Given the description of an element on the screen output the (x, y) to click on. 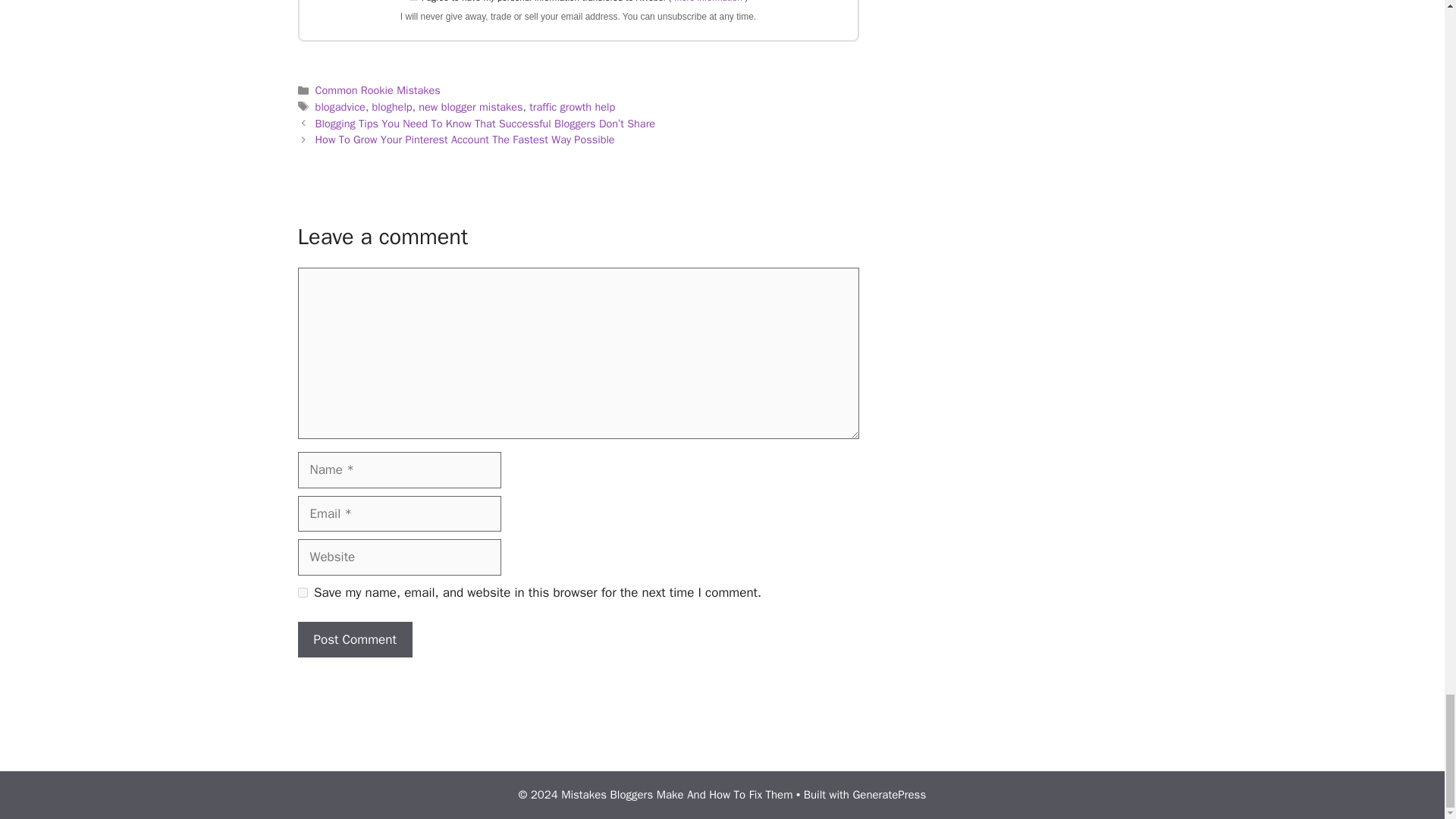
traffic growth help (571, 106)
Post Comment (354, 639)
Common Rookie Mistakes (378, 90)
new blogger mistakes (470, 106)
yes (302, 592)
blogadvice (340, 106)
bloghelp (392, 106)
more information (707, 2)
